Given the description of an element on the screen output the (x, y) to click on. 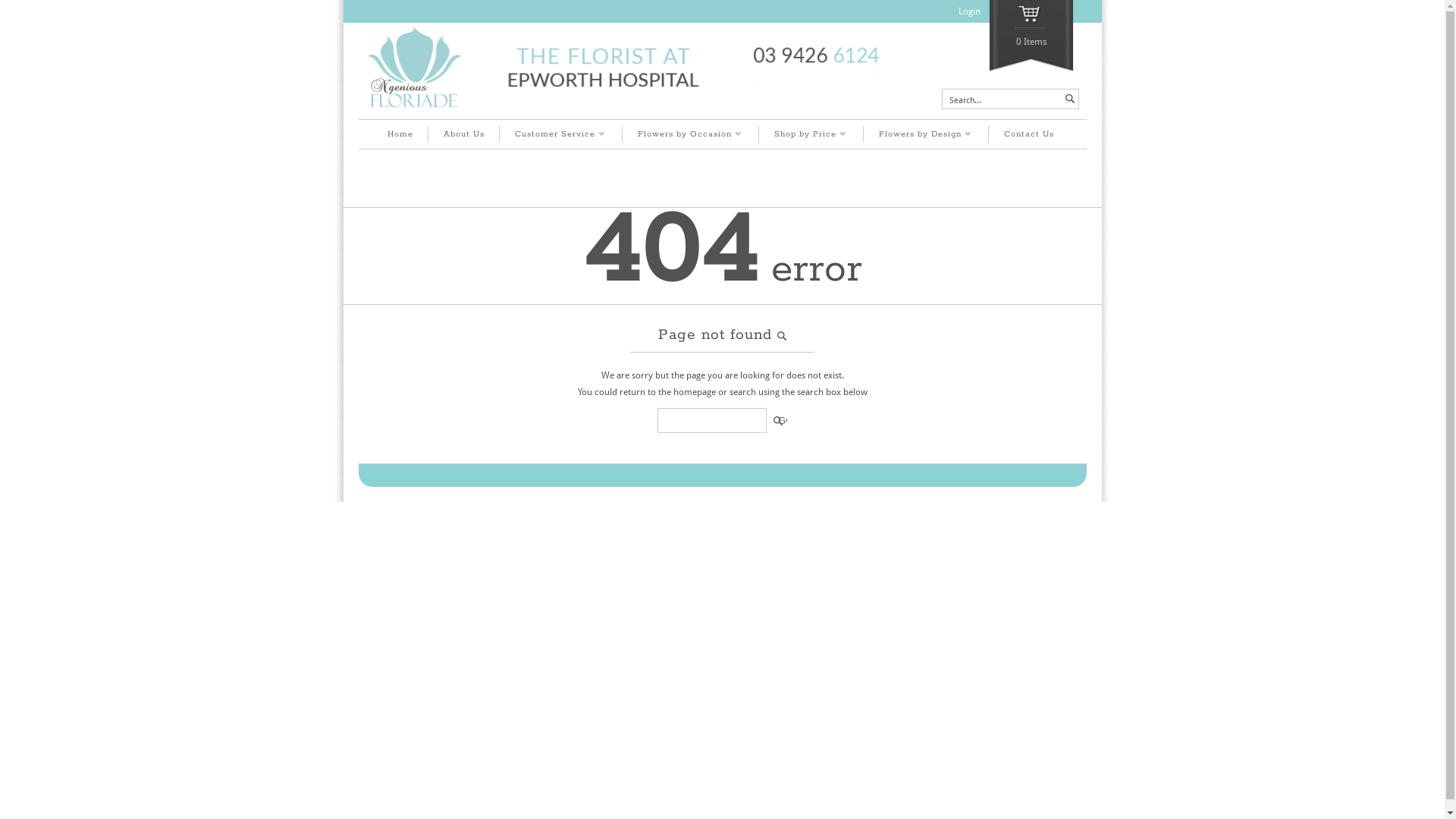
GO Element type: text (777, 420)
About Us Element type: text (463, 133)
0 Items Element type: text (1030, 36)
Home Element type: text (400, 133)
Epworth Hospital Florist, Ngenious Floriade Richmond Element type: hover (622, 109)
Contact Us Element type: text (1028, 133)
Login Element type: text (969, 11)
homepage Element type: text (694, 391)
  Element type: text (1069, 98)
